Given the description of an element on the screen output the (x, y) to click on. 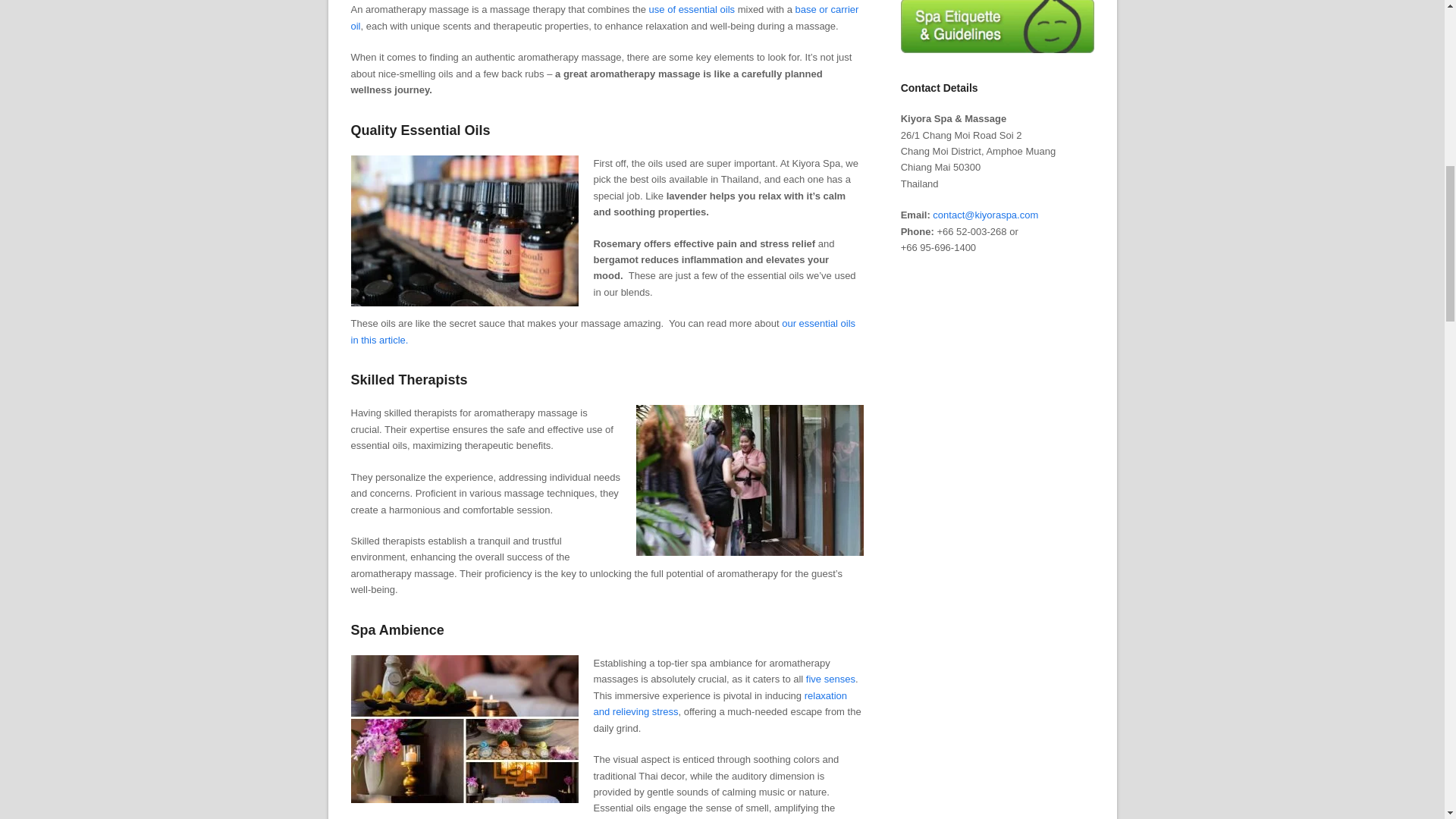
five senses (831, 678)
our essential oils in this article.  (603, 330)
relaxation and relieving stress (719, 703)
Quality Essential Oils (419, 130)
use of essential oils (692, 9)
base or carrier oil (604, 17)
